Given the description of an element on the screen output the (x, y) to click on. 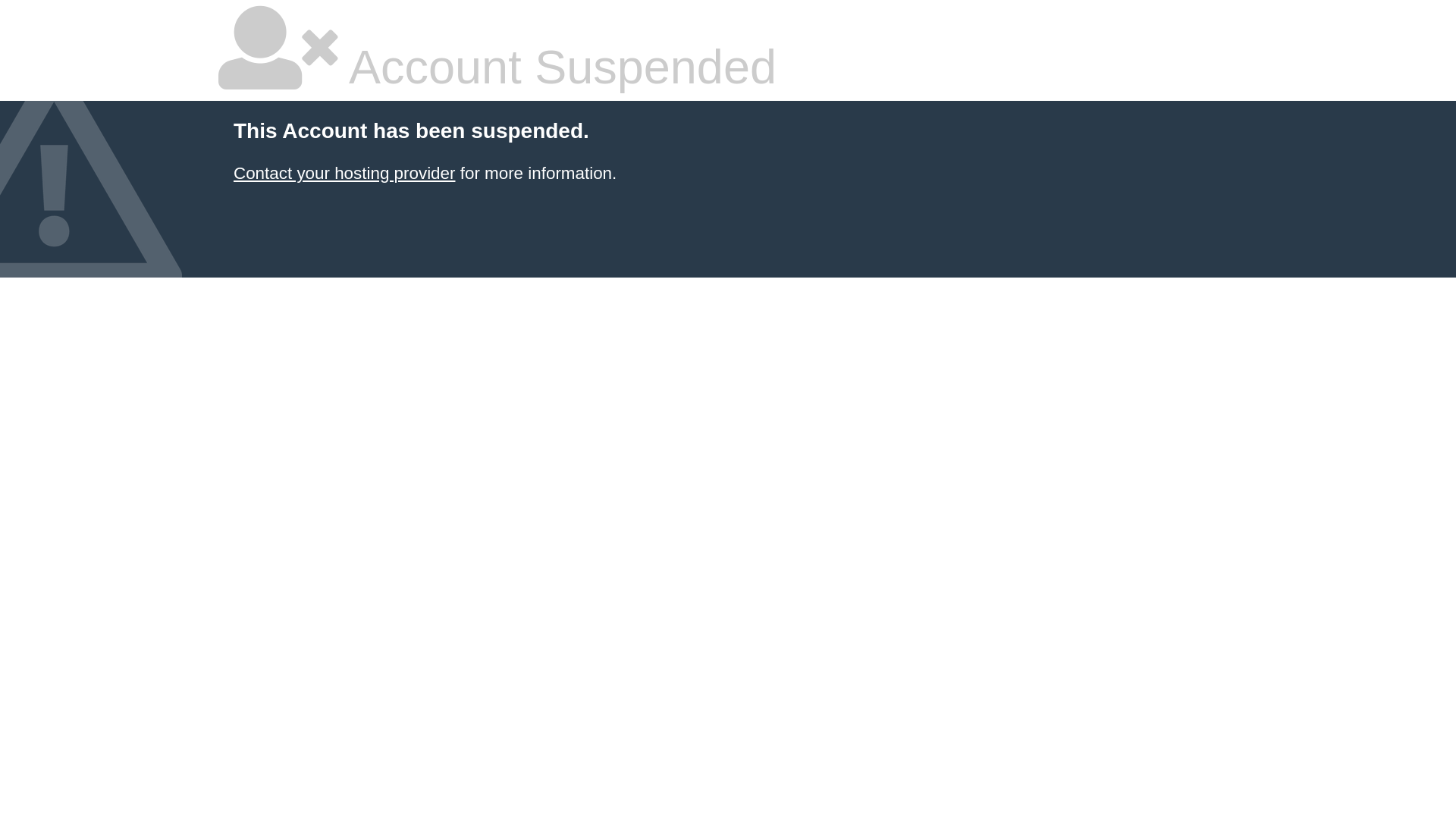
Contact your hosting provider Element type: text (344, 172)
